Given the description of an element on the screen output the (x, y) to click on. 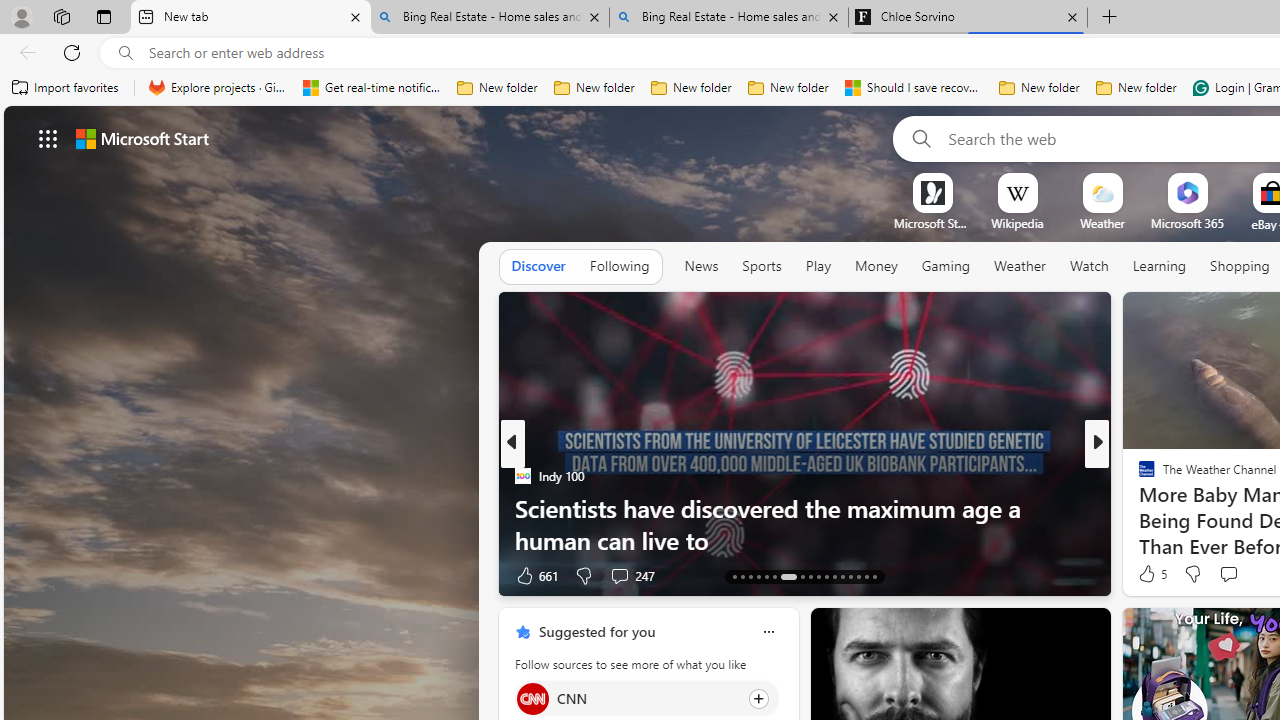
BuzzFeed (1138, 475)
Class: icon-img (768, 632)
CNBC (1138, 475)
Microsoft 365 (1186, 223)
Microsoft start (142, 138)
151 Like (1151, 574)
Money (875, 265)
View comments 5 Comment (1234, 575)
View comments 7 Comment (1229, 575)
Chloe Sorvino (967, 17)
AutomationID: tab-13 (733, 576)
